Given the description of an element on the screen output the (x, y) to click on. 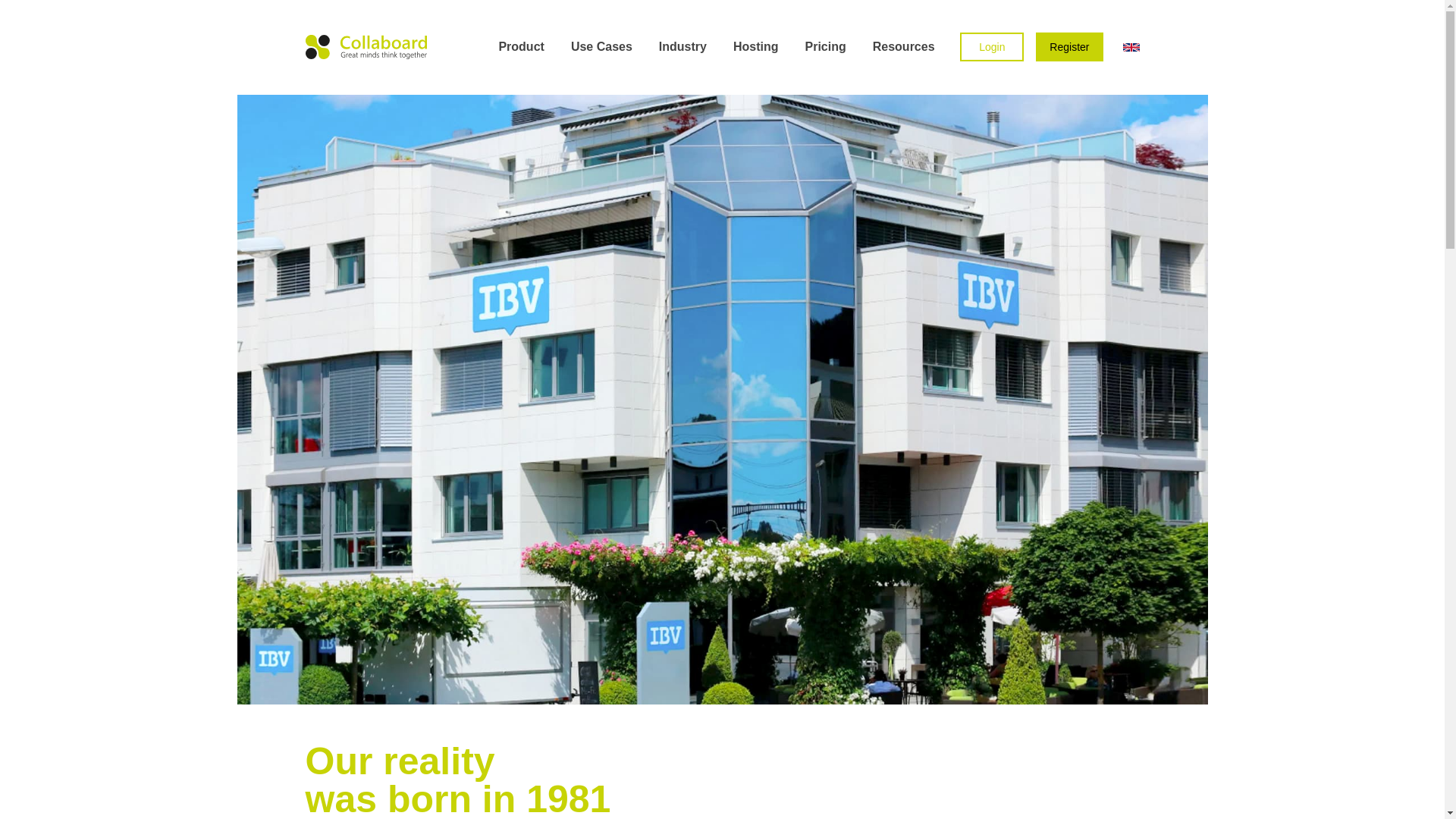
Pricing (827, 47)
Industry (683, 47)
Register (1068, 46)
Hosting (757, 47)
Resources (905, 47)
Login (991, 46)
Product (522, 47)
Use Cases (603, 47)
